Given the description of an element on the screen output the (x, y) to click on. 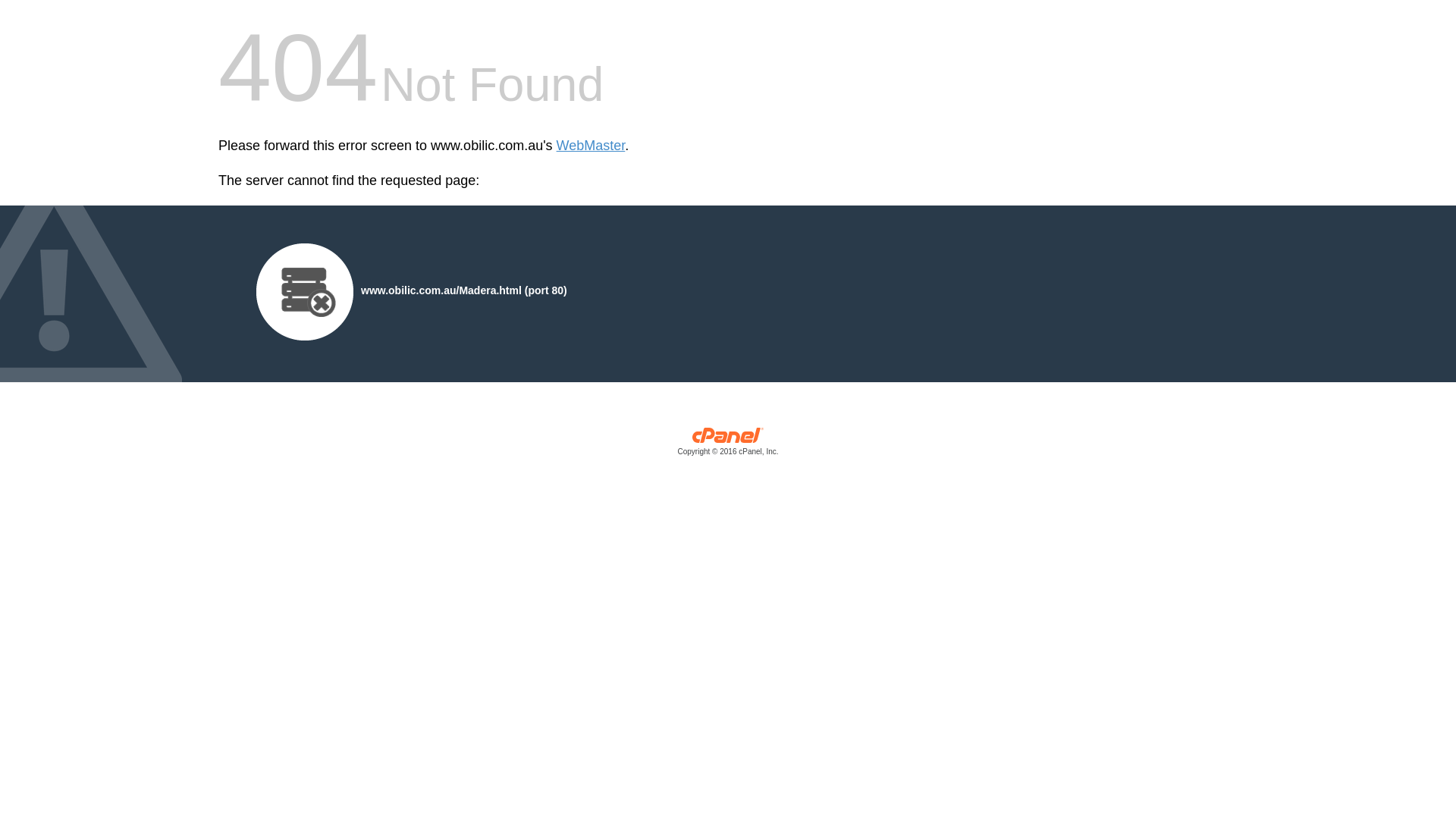
WebMaster Element type: text (590, 145)
